Given the description of an element on the screen output the (x, y) to click on. 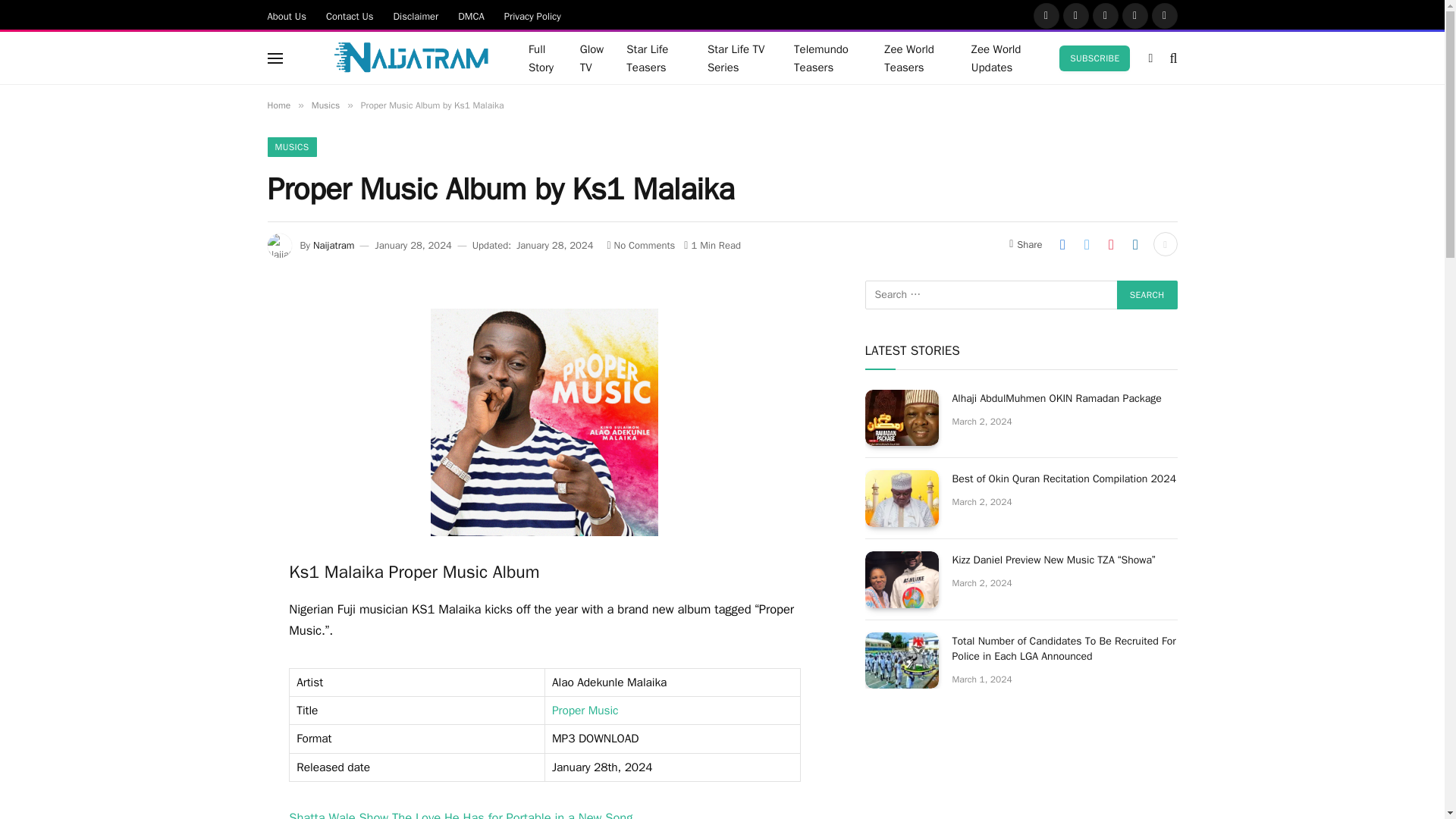
DMCA (471, 15)
Facebook (1046, 15)
Telemundo Teasers (827, 57)
Home (277, 105)
Privacy Policy (532, 15)
Contact Us (349, 15)
Musics (325, 105)
About Us (286, 15)
Share on Facebook (1062, 243)
Share on Pinterest (1110, 243)
Disclaimer (416, 15)
NaijaTram (392, 58)
Switch to Dark Design - easier on eyes. (1149, 57)
Search (1146, 294)
Share on LinkedIn (1135, 243)
